Given the description of an element on the screen output the (x, y) to click on. 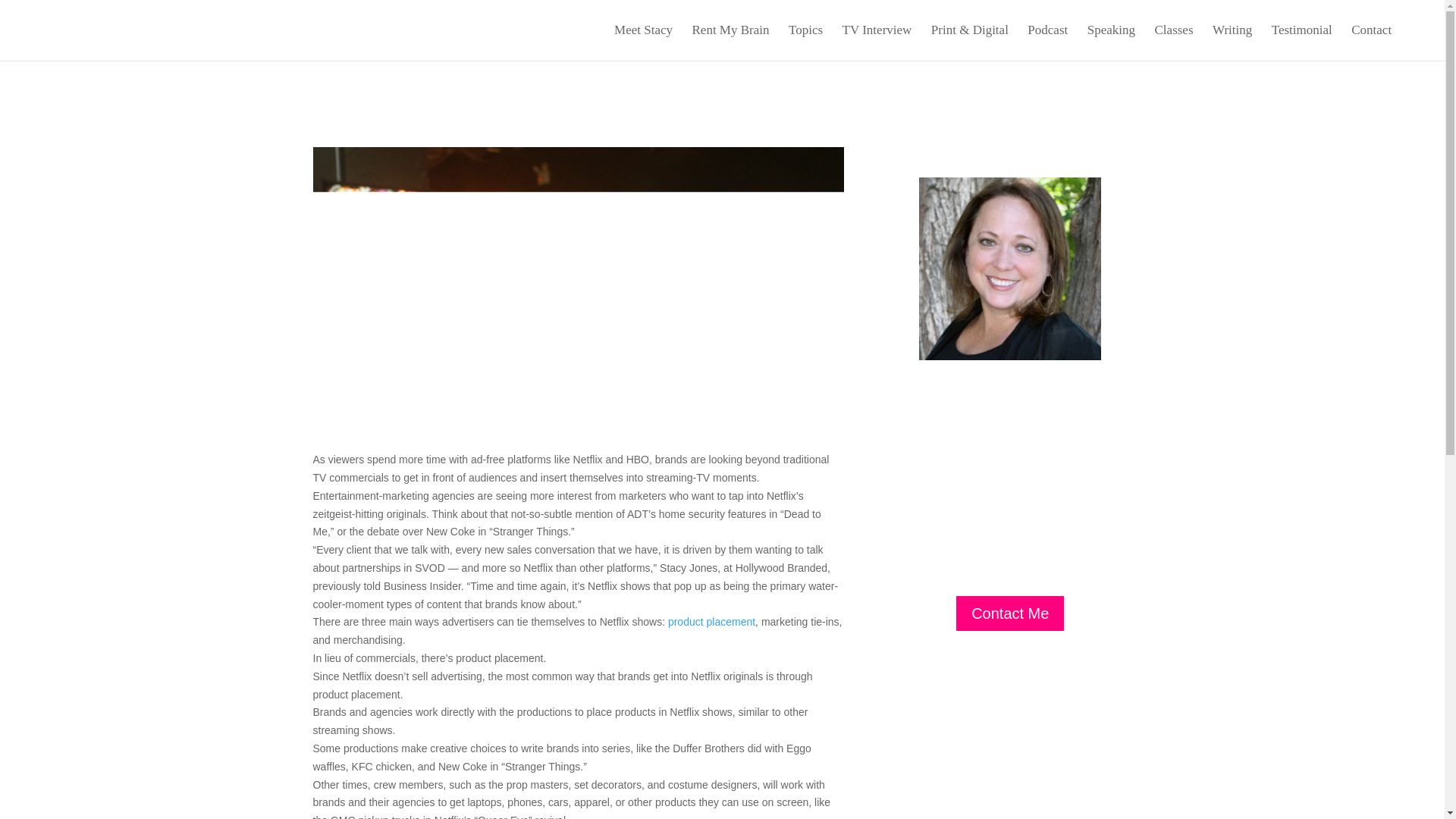
Writing (1232, 42)
product placement (711, 621)
TV Interview (877, 42)
Meet Stacy (643, 42)
Speaking (1111, 42)
Testimonial (1301, 42)
Rent My Brain (731, 42)
Classes (1173, 42)
Podcast (1047, 42)
Contact (1371, 42)
